Given the description of an element on the screen output the (x, y) to click on. 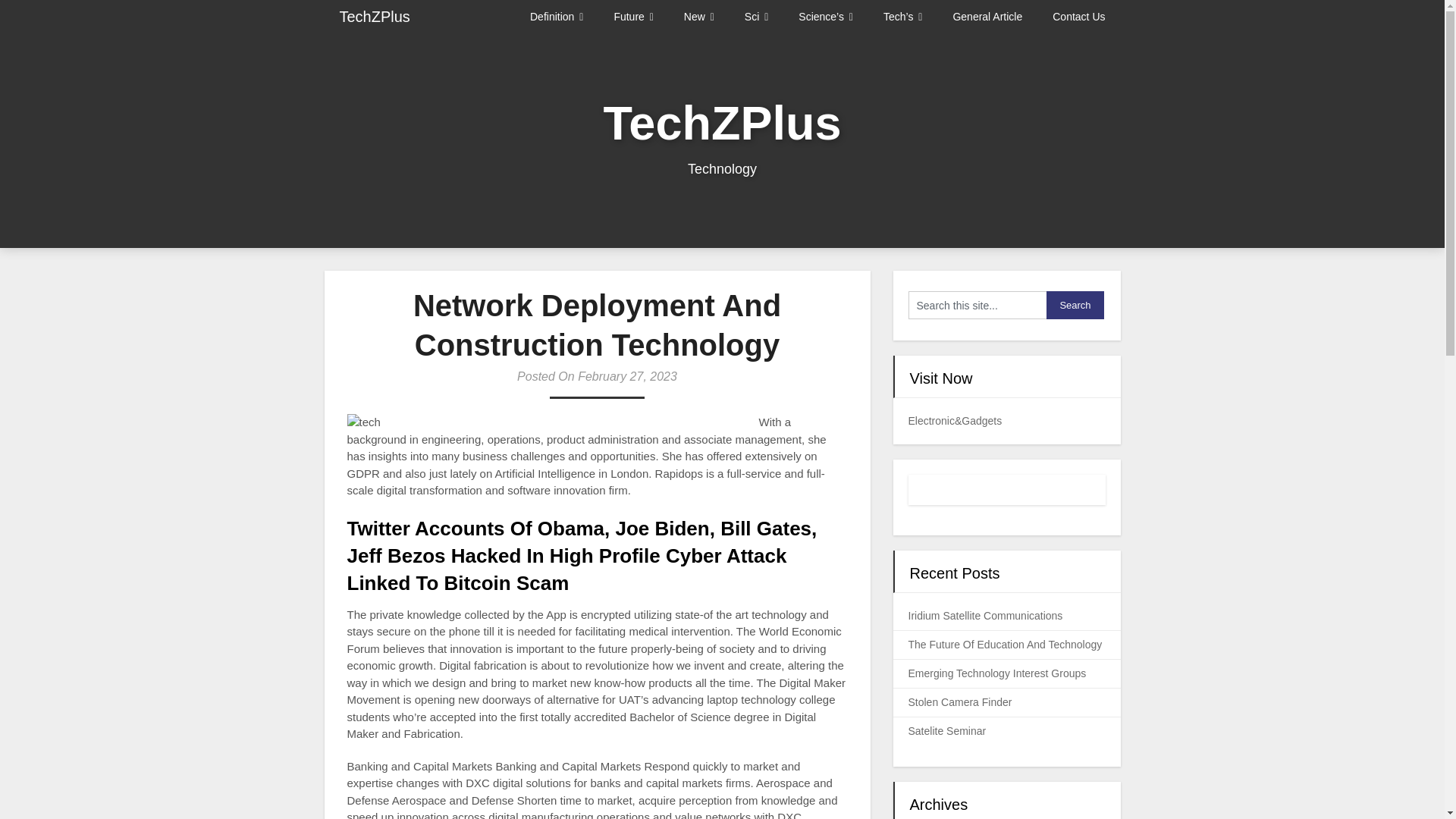
New (698, 17)
Search (1075, 305)
TechZPlus (374, 17)
Search (1075, 305)
Sci (756, 17)
Contact Us (1077, 17)
Future (633, 17)
Definition (563, 17)
General Article (986, 17)
Search this site... (977, 305)
